Given the description of an element on the screen output the (x, y) to click on. 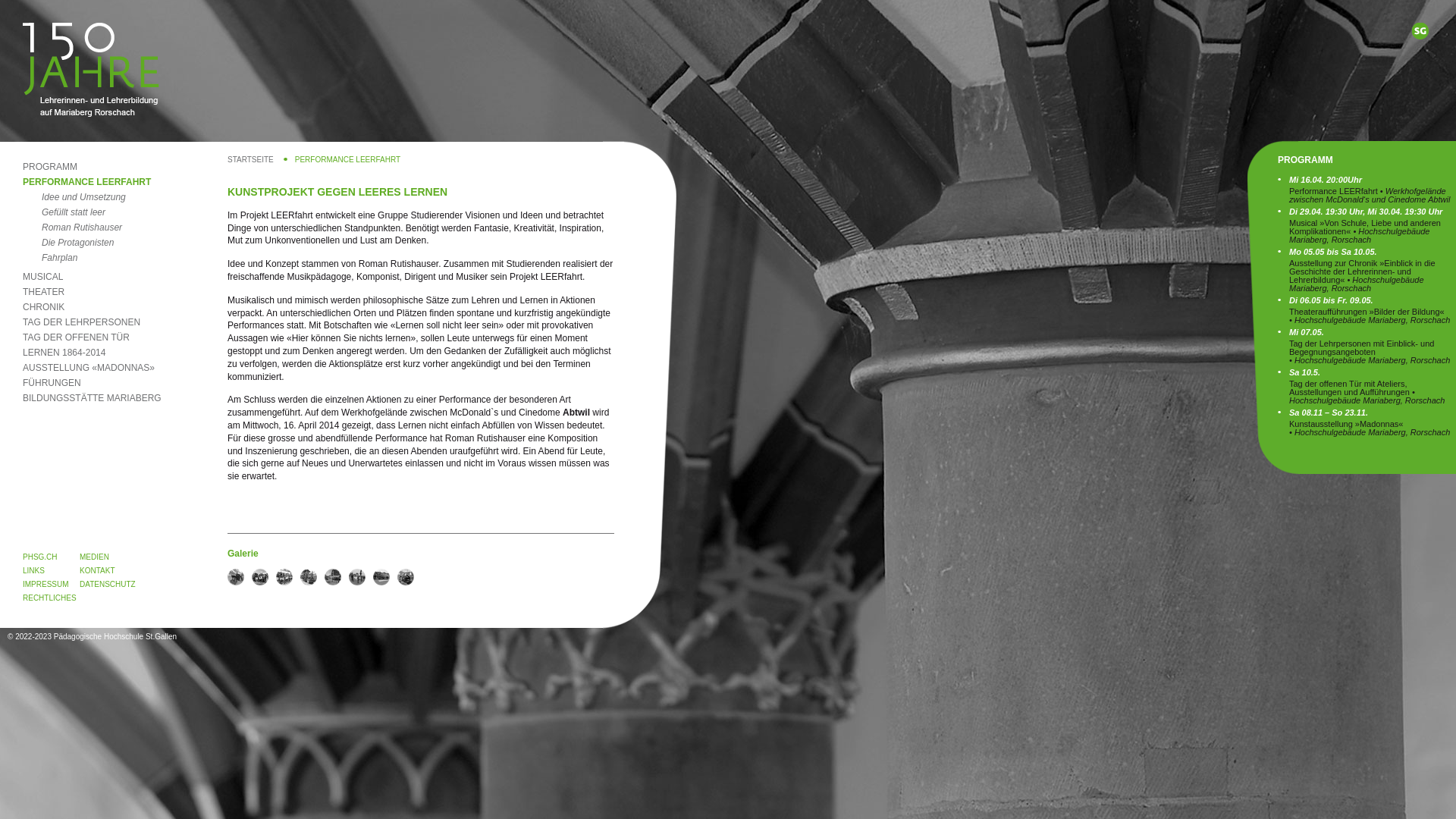
PHSG.CH Element type: text (39, 556)
STARTSEITE Element type: text (257, 159)
Idee und Umsetzung Element type: text (73, 196)
THEATER Element type: text (43, 291)
LERNEN 1864-2014 Element type: text (63, 352)
Galerie Element type: hover (235, 576)
Galerie Element type: hover (284, 576)
Galerie Element type: hover (405, 576)
MEDIEN Element type: text (94, 556)
IMPRESSUM Element type: text (45, 584)
RECHTLICHES Element type: text (49, 597)
MUSICAL Element type: text (42, 276)
KONTAKT Element type: text (96, 570)
TAG DER LEHRPERSONEN Element type: text (81, 321)
Galerie Element type: hover (308, 576)
PROGRAMM Element type: text (49, 166)
Fahrplan Element type: text (49, 257)
Roman Rutishauser Element type: text (72, 227)
Galerie Element type: hover (332, 576)
Die Protagonisten Element type: text (67, 242)
CHRONIK Element type: text (43, 306)
Galerie Element type: hover (356, 576)
PERFORMANCE LEERFAHRT Element type: text (86, 181)
Galerie Element type: hover (381, 576)
LINKS Element type: text (33, 570)
Galerie Element type: hover (259, 576)
DATENSCHUTZ Element type: text (107, 584)
Galerie Element type: hover (429, 576)
